Given the description of an element on the screen output the (x, y) to click on. 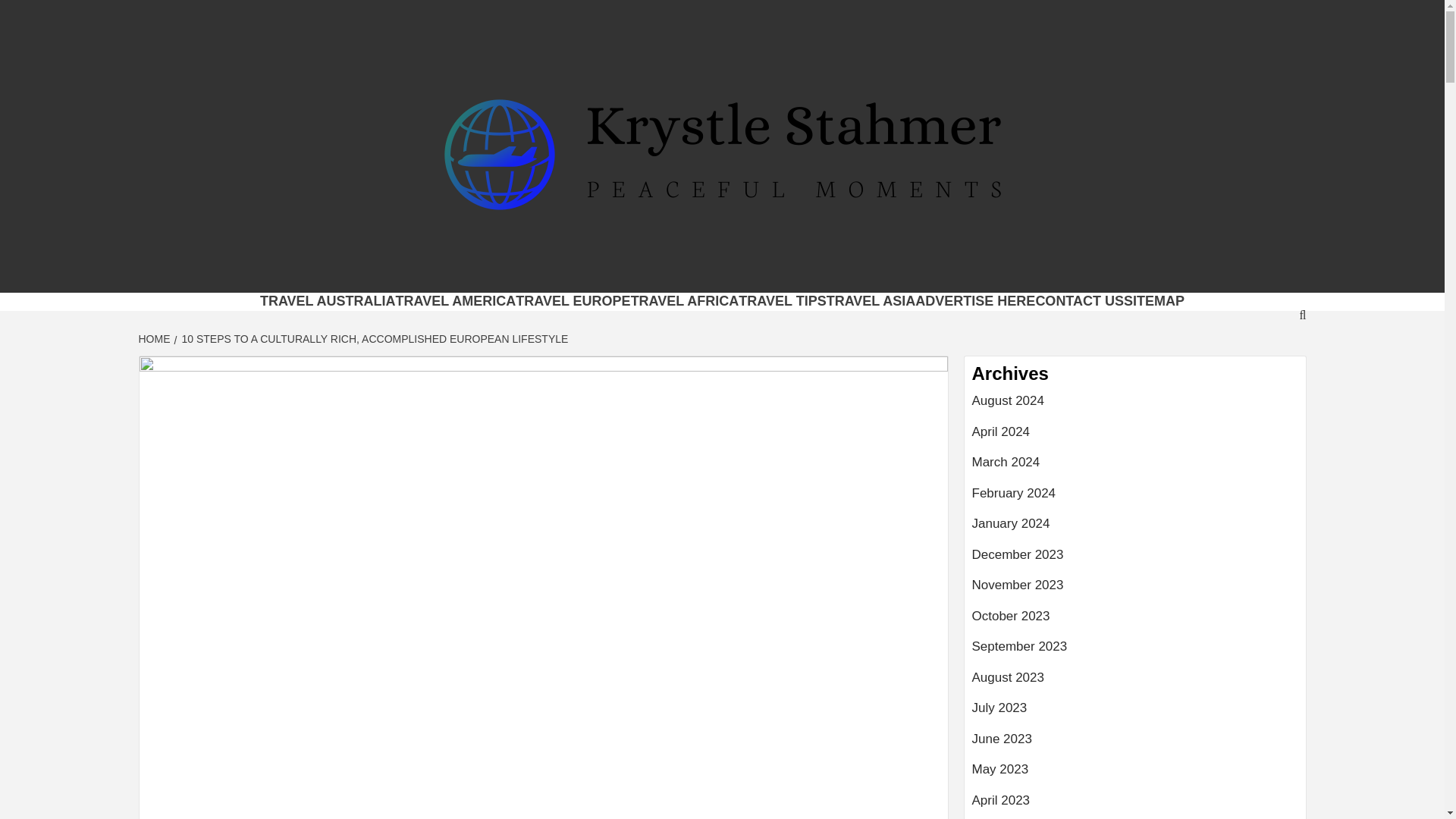
July 2023 (1135, 713)
February 2024 (1135, 499)
August 2023 (1135, 683)
March 2024 (1135, 468)
May 2023 (1135, 775)
June 2023 (1135, 744)
TRAVEL AFRICA (684, 300)
November 2023 (1135, 590)
August 2024 (1135, 406)
